Given the description of an element on the screen output the (x, y) to click on. 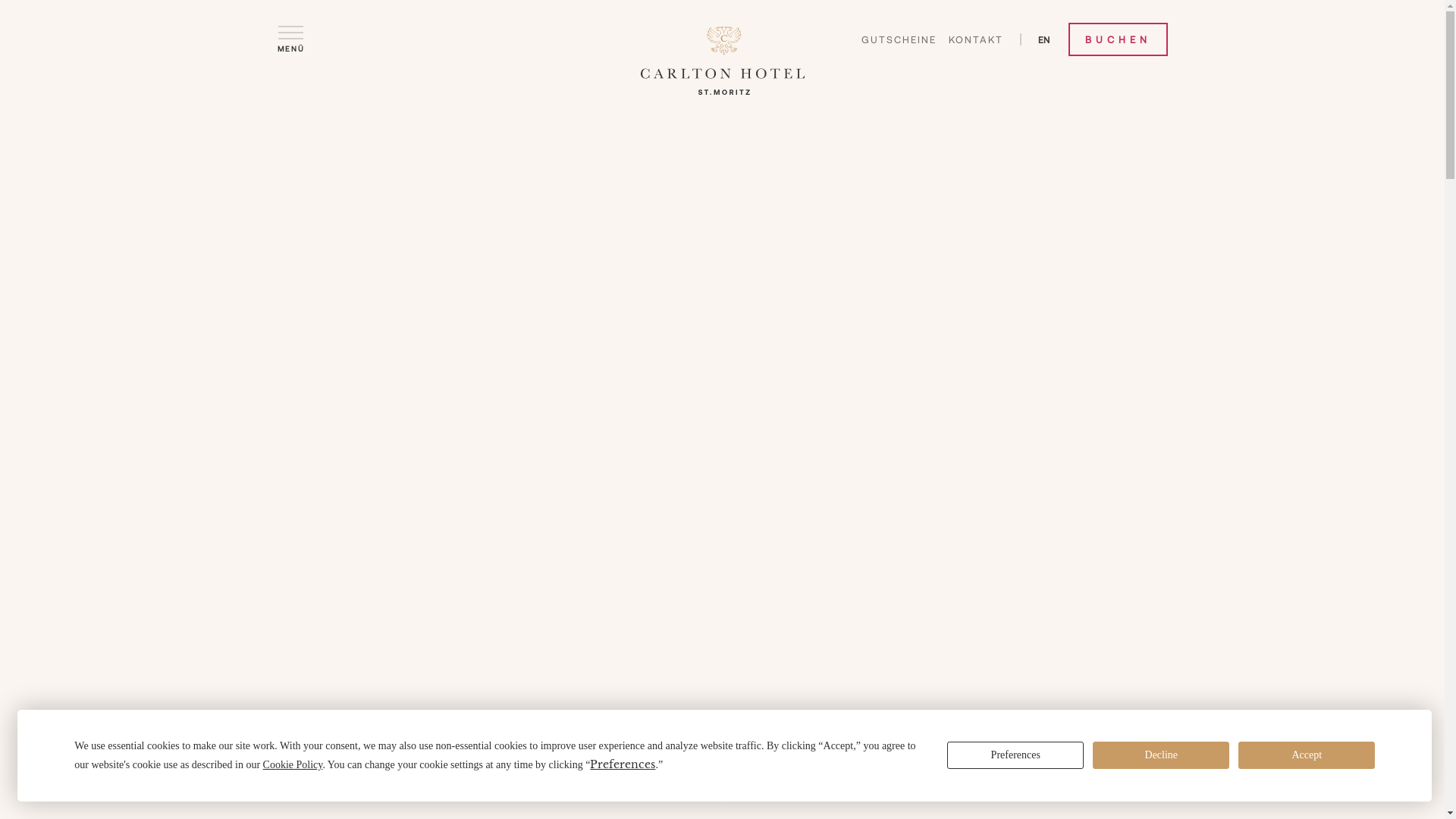
KONTAKT Element type: text (974, 39)
MEHR ENTDECKEN Element type: text (722, 790)
GUTSCHEINE Element type: text (898, 39)
EN Element type: text (1042, 39)
BUCHEN Element type: text (1117, 39)
